Given the description of an element on the screen output the (x, y) to click on. 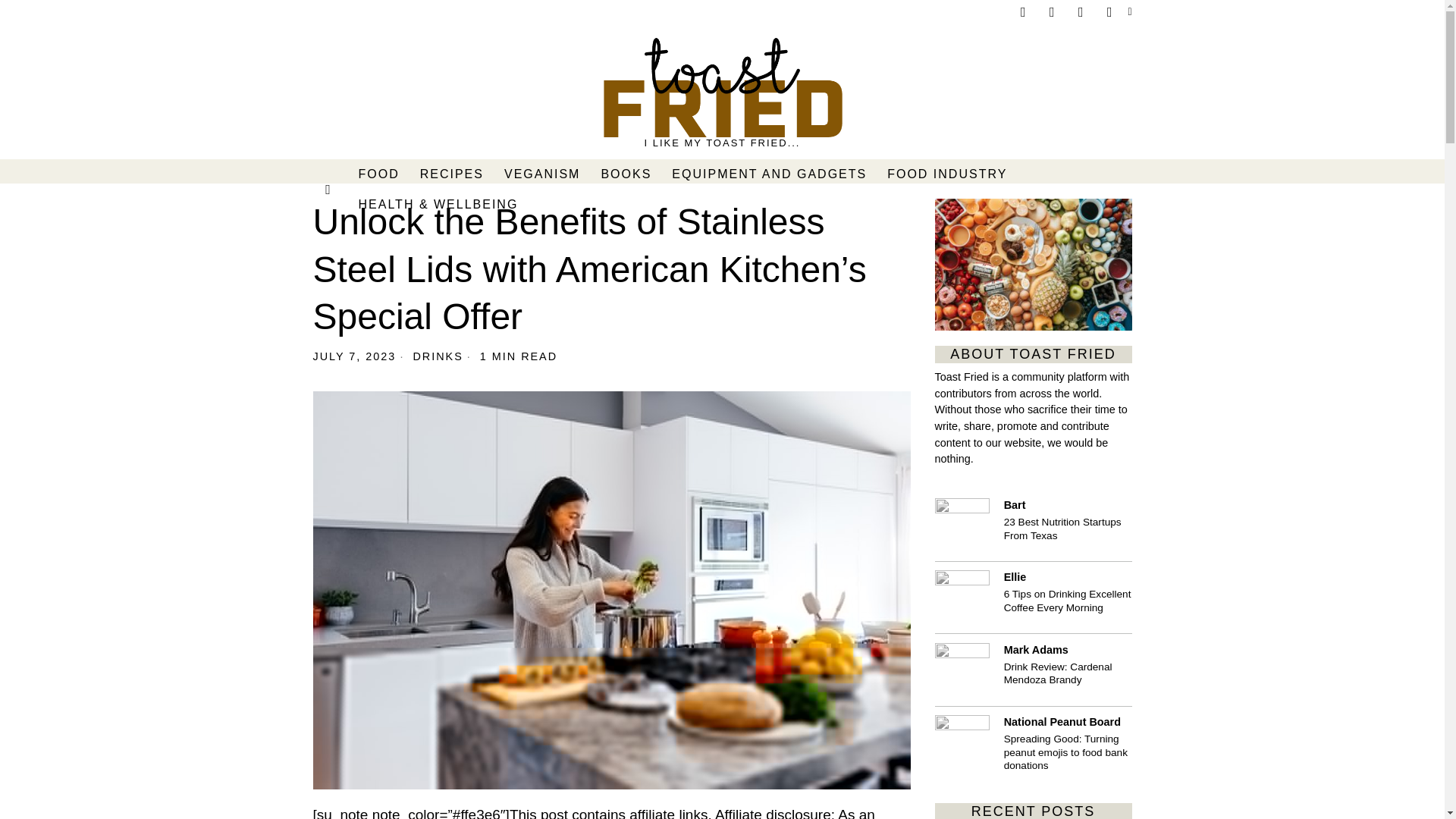
Bart (1015, 504)
Bart (961, 524)
Drink Review: Cardenal Mendoza Brandy (1068, 673)
FOOD (379, 173)
6 Tips on Drinking Excellent Coffee Every Morning (1068, 601)
Mark Adams (961, 669)
Ellie (1015, 576)
07 Jul, 2023 21:43:16 (354, 355)
Mark Adams (1036, 649)
BOOKS (626, 173)
Ellie (961, 597)
VEGANISM (543, 173)
National Peanut Board (961, 741)
